Given the description of an element on the screen output the (x, y) to click on. 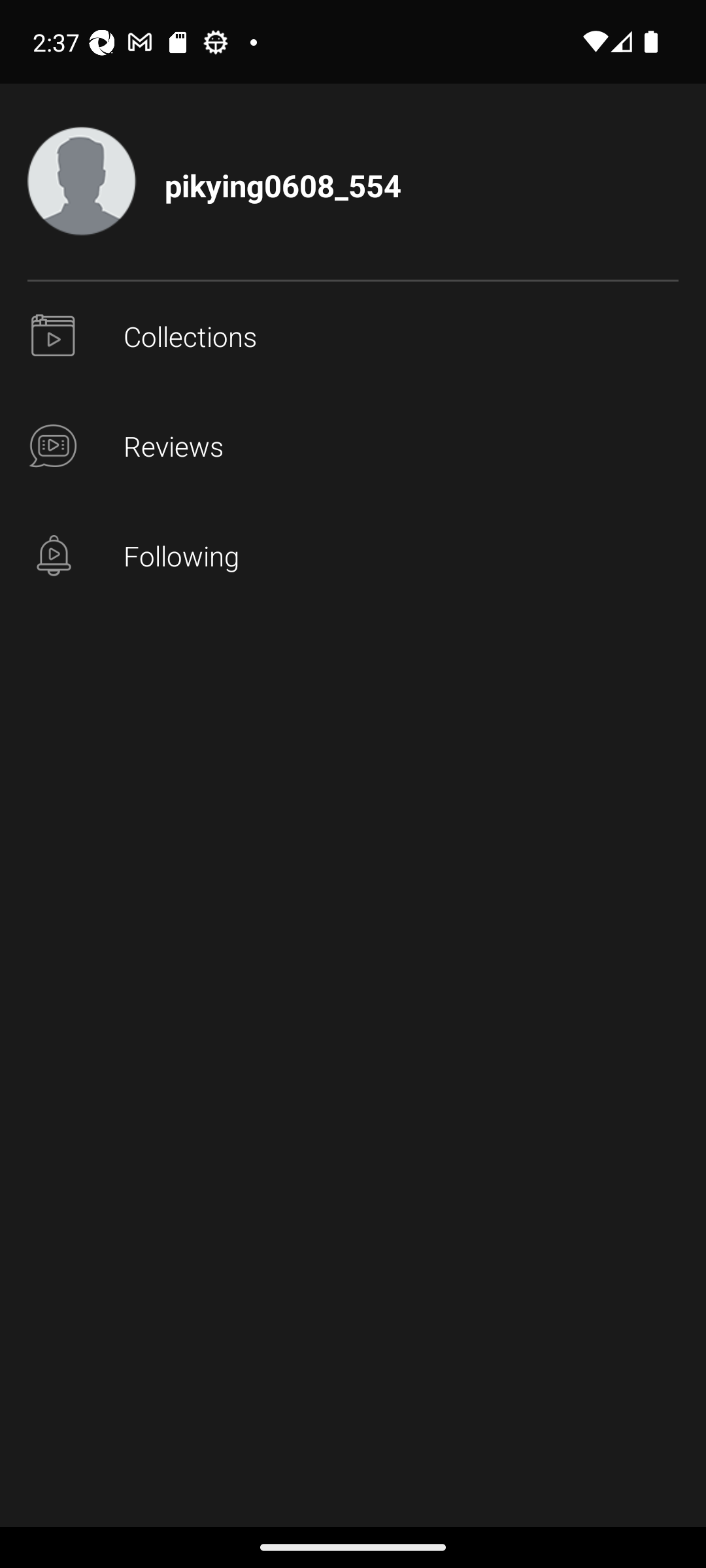
profile_page_user_collections Collections (353, 337)
Reviews (353, 446)
Following (353, 556)
